Given the description of an element on the screen output the (x, y) to click on. 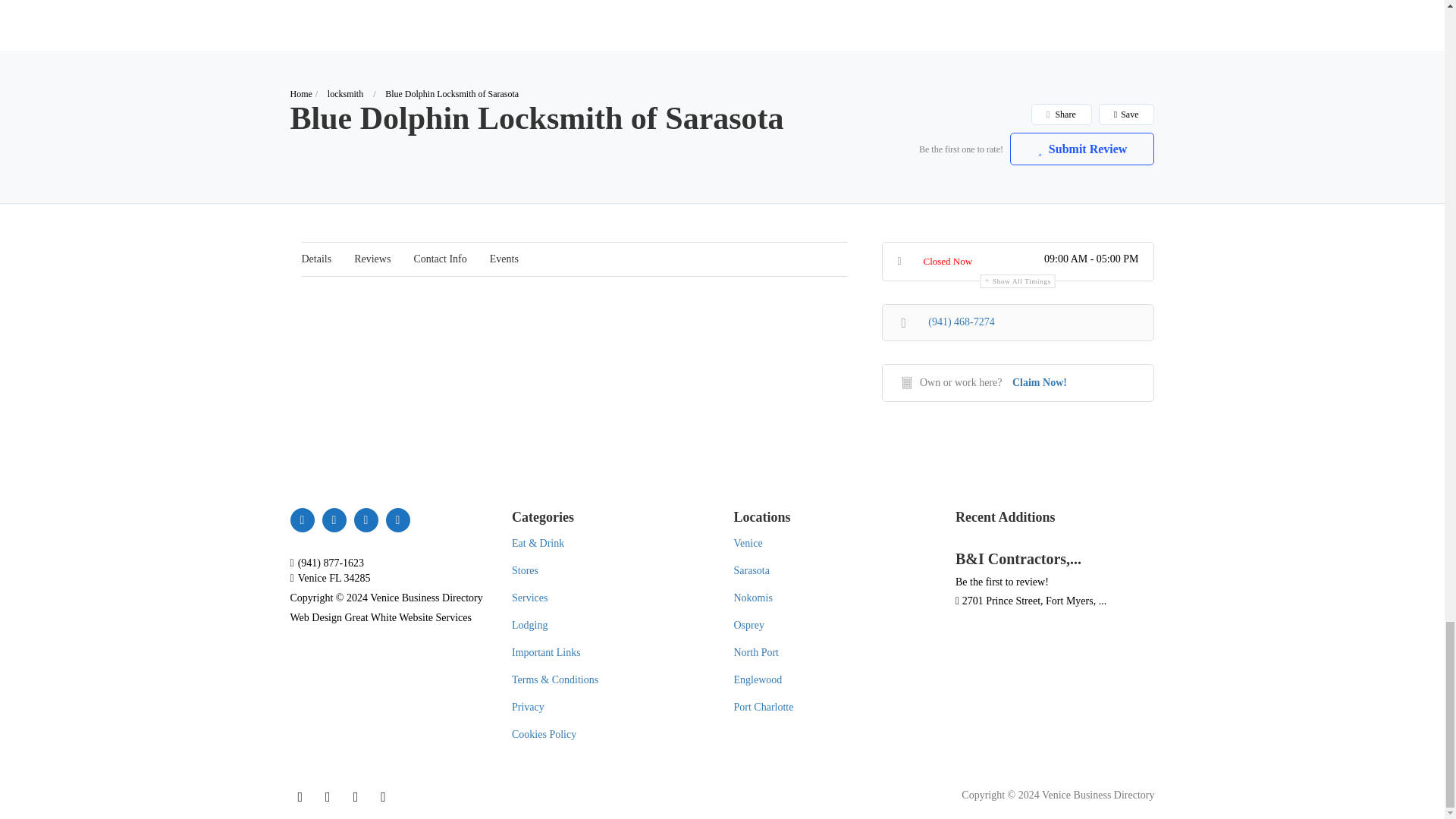
Home (300, 93)
Share (1060, 114)
locksmith (344, 93)
Save (1125, 114)
